Given the description of an element on the screen output the (x, y) to click on. 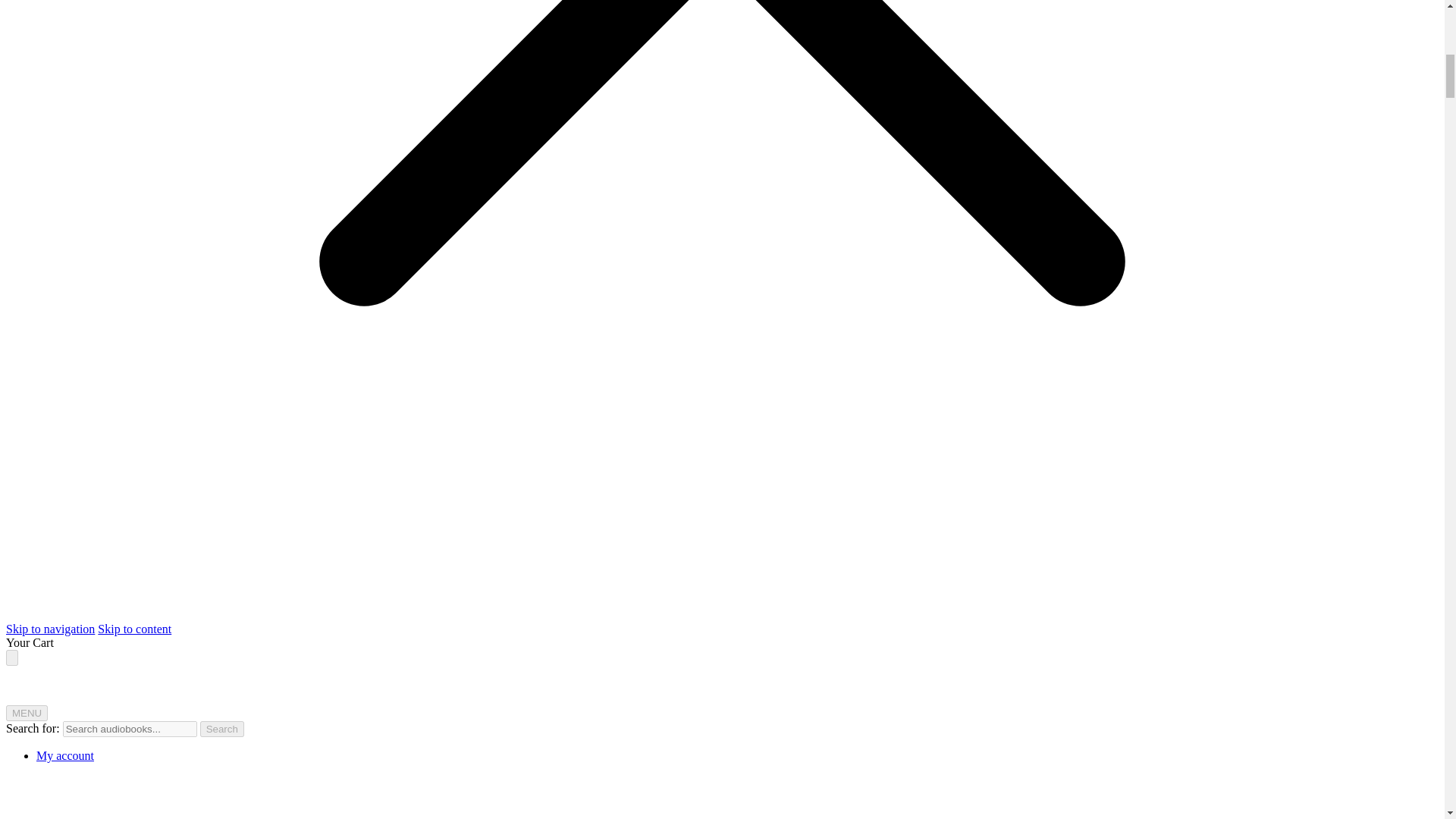
Search (222, 729)
MENU (26, 713)
Skip to content (134, 628)
Skip to navigation (49, 628)
